Given the description of an element on the screen output the (x, y) to click on. 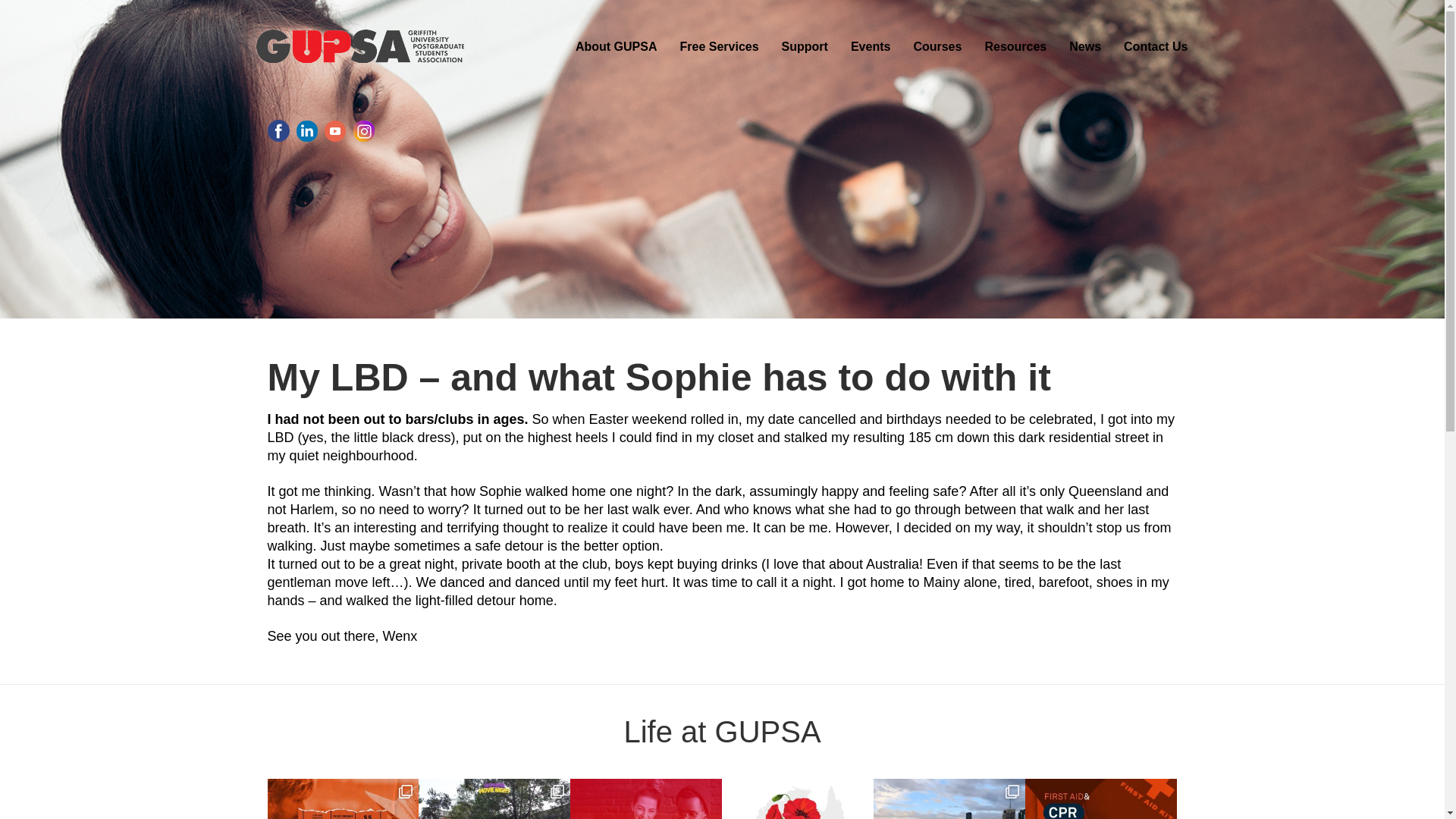
Support (805, 46)
Events (870, 46)
Free Services (719, 46)
About GUPSA (616, 46)
